Given the description of an element on the screen output the (x, y) to click on. 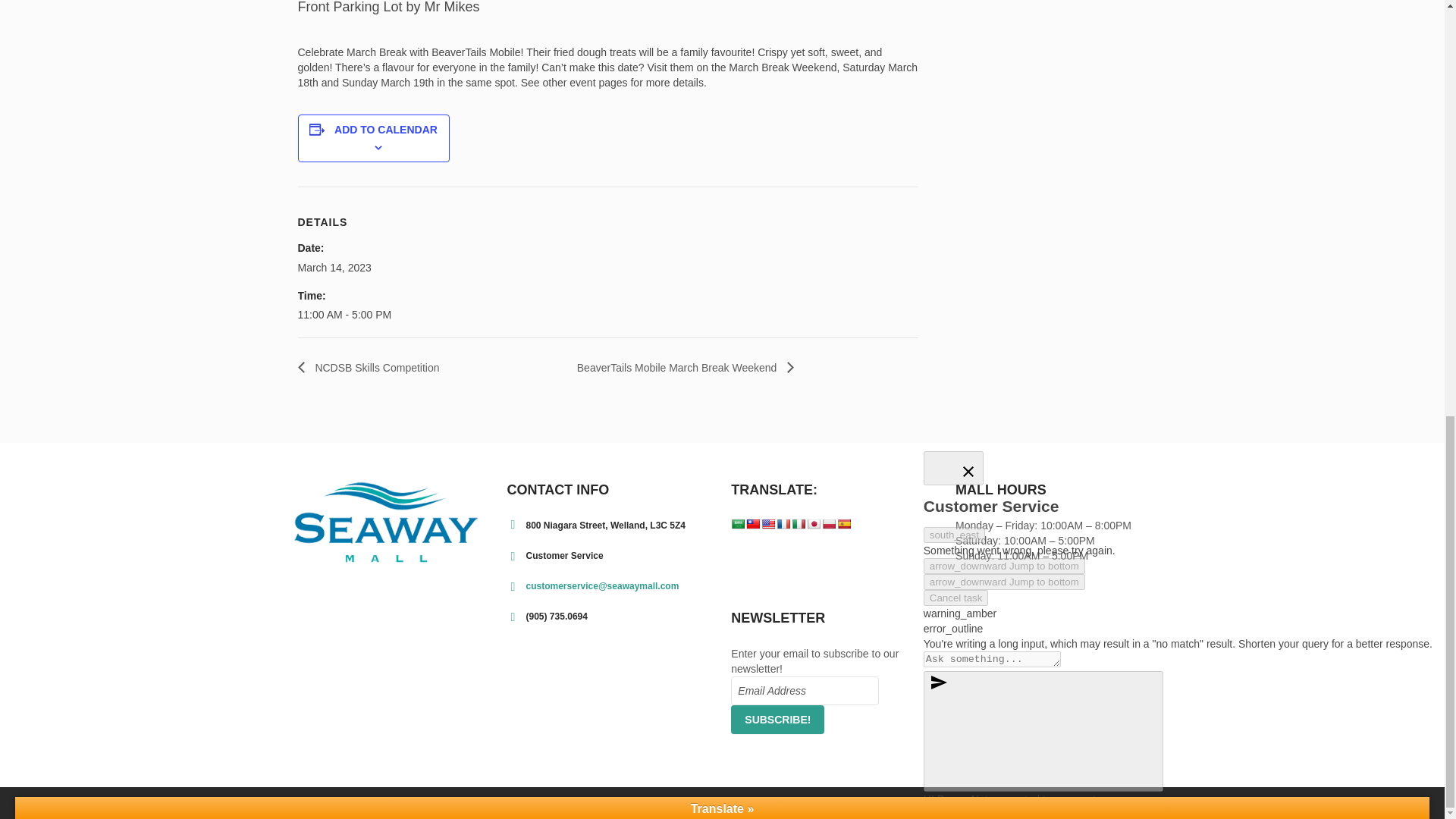
2023-03-14 (361, 314)
2023-03-14 (334, 267)
NCDSB Skills Competition (371, 367)
ADD TO CALENDAR (386, 129)
Subscribe! (777, 719)
BeaverTails Mobile March Break Weekend (681, 367)
